Given the description of an element on the screen output the (x, y) to click on. 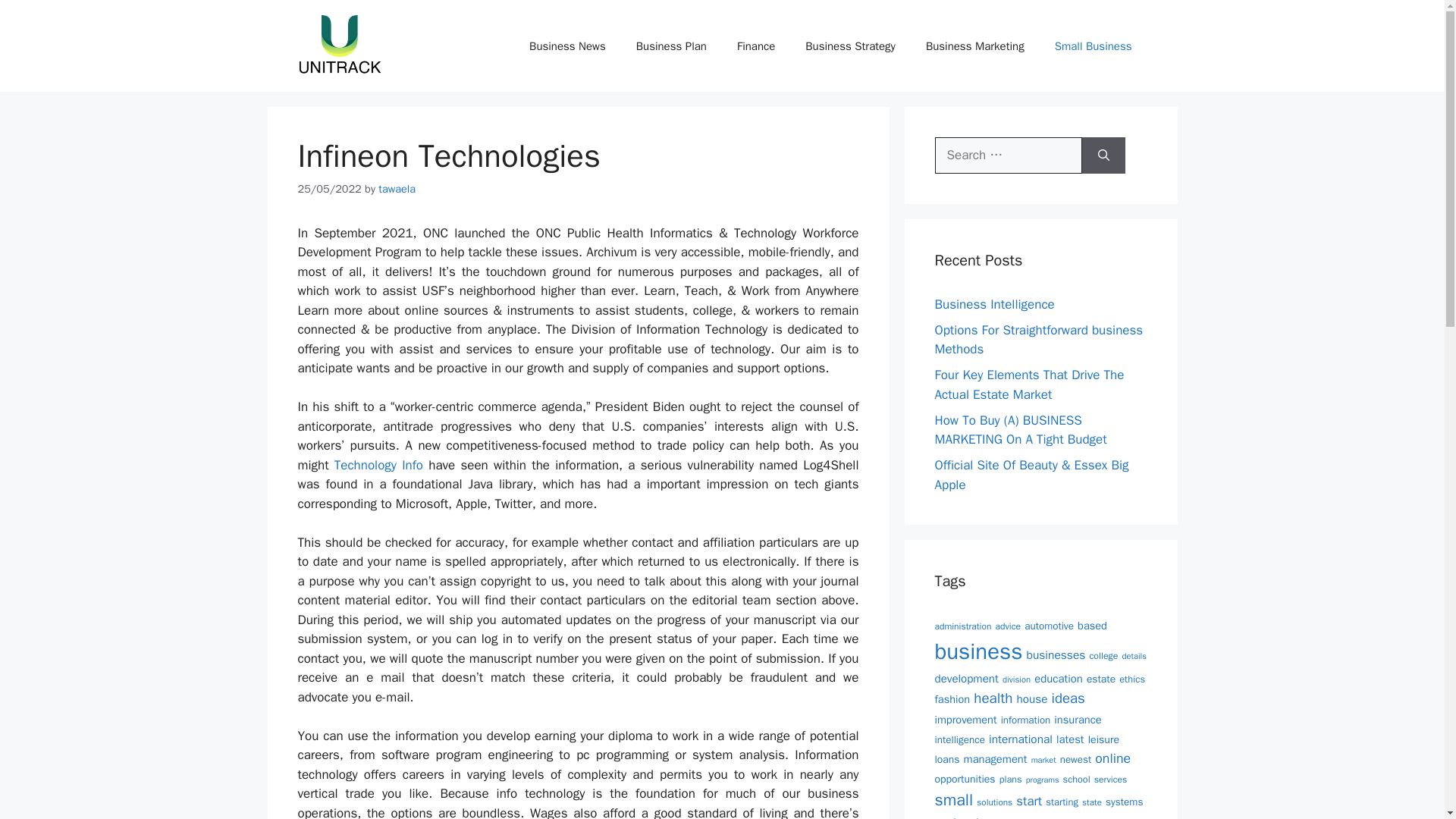
fashion (951, 698)
division (1016, 679)
education (1058, 678)
details (1134, 655)
based (1091, 625)
house (1032, 698)
administration (962, 625)
development (965, 677)
Business Marketing (975, 45)
automotive (1049, 625)
